Given the description of an element on the screen output the (x, y) to click on. 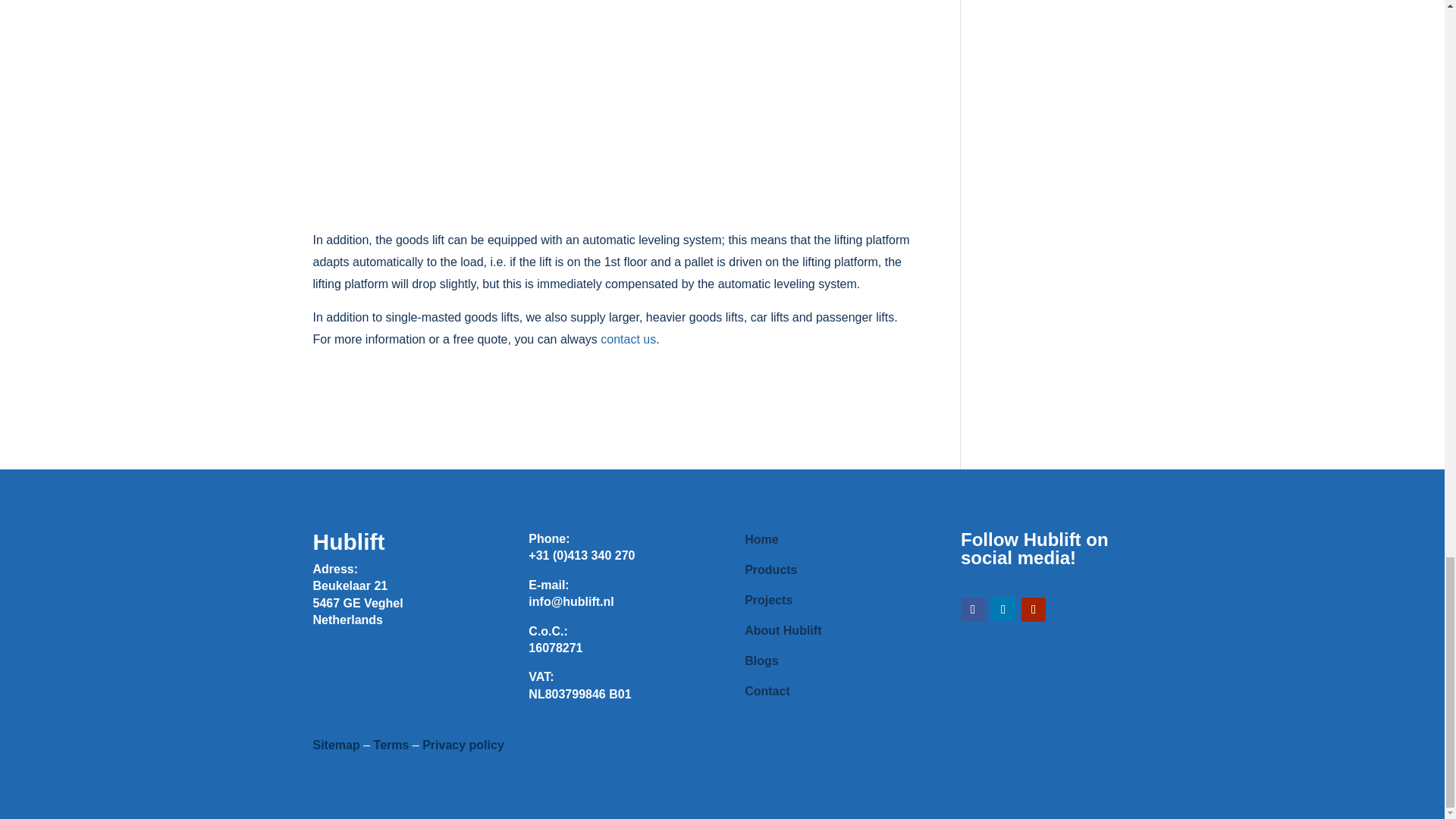
Follow on Youtube (1033, 609)
Logo-Hublift-white (372, 673)
Follow on Facebook (972, 609)
Follow on LinkedIn (1002, 609)
contact us (627, 338)
